Given the description of an element on the screen output the (x, y) to click on. 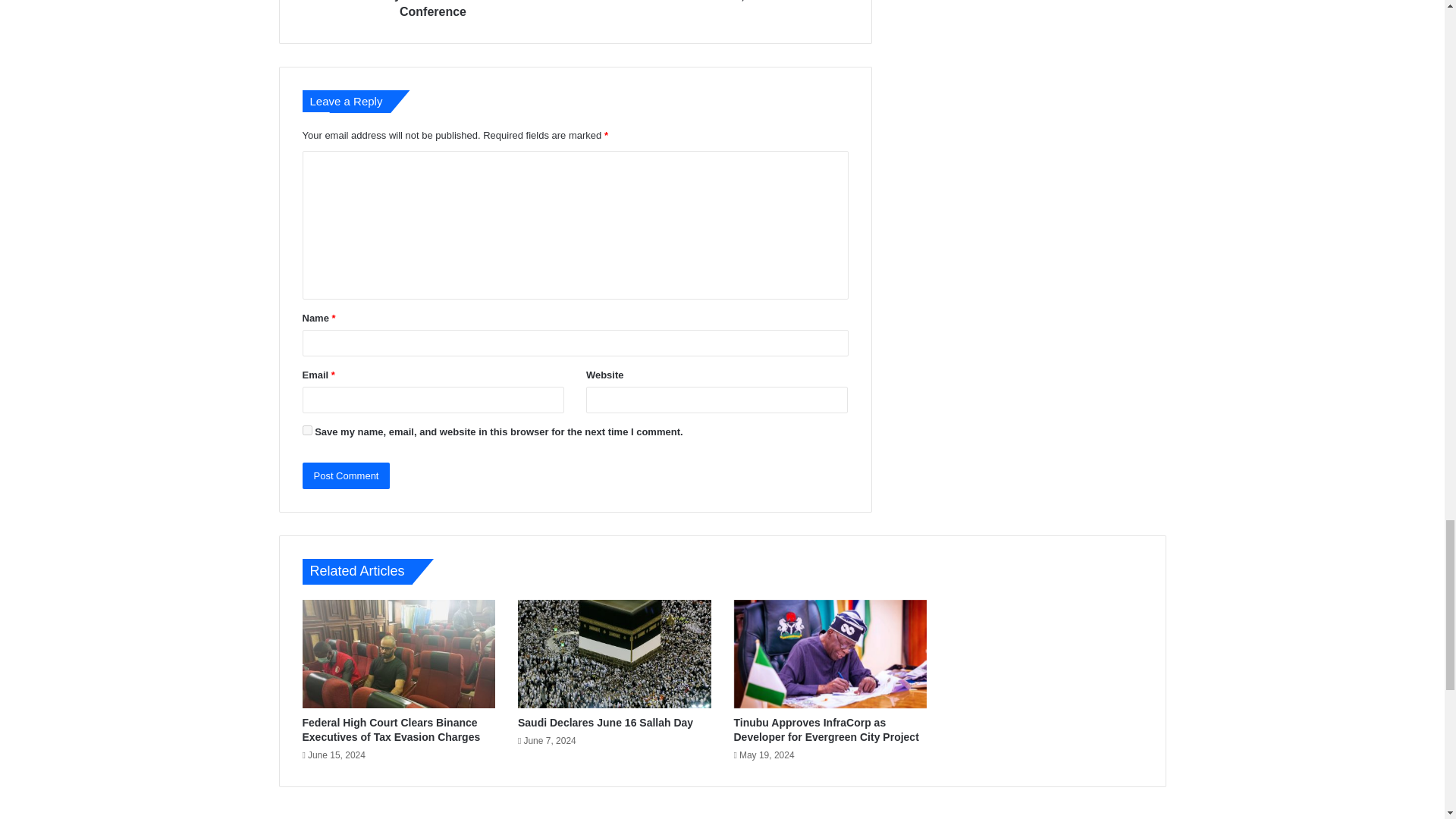
yes (306, 429)
Post Comment (345, 475)
